Given the description of an element on the screen output the (x, y) to click on. 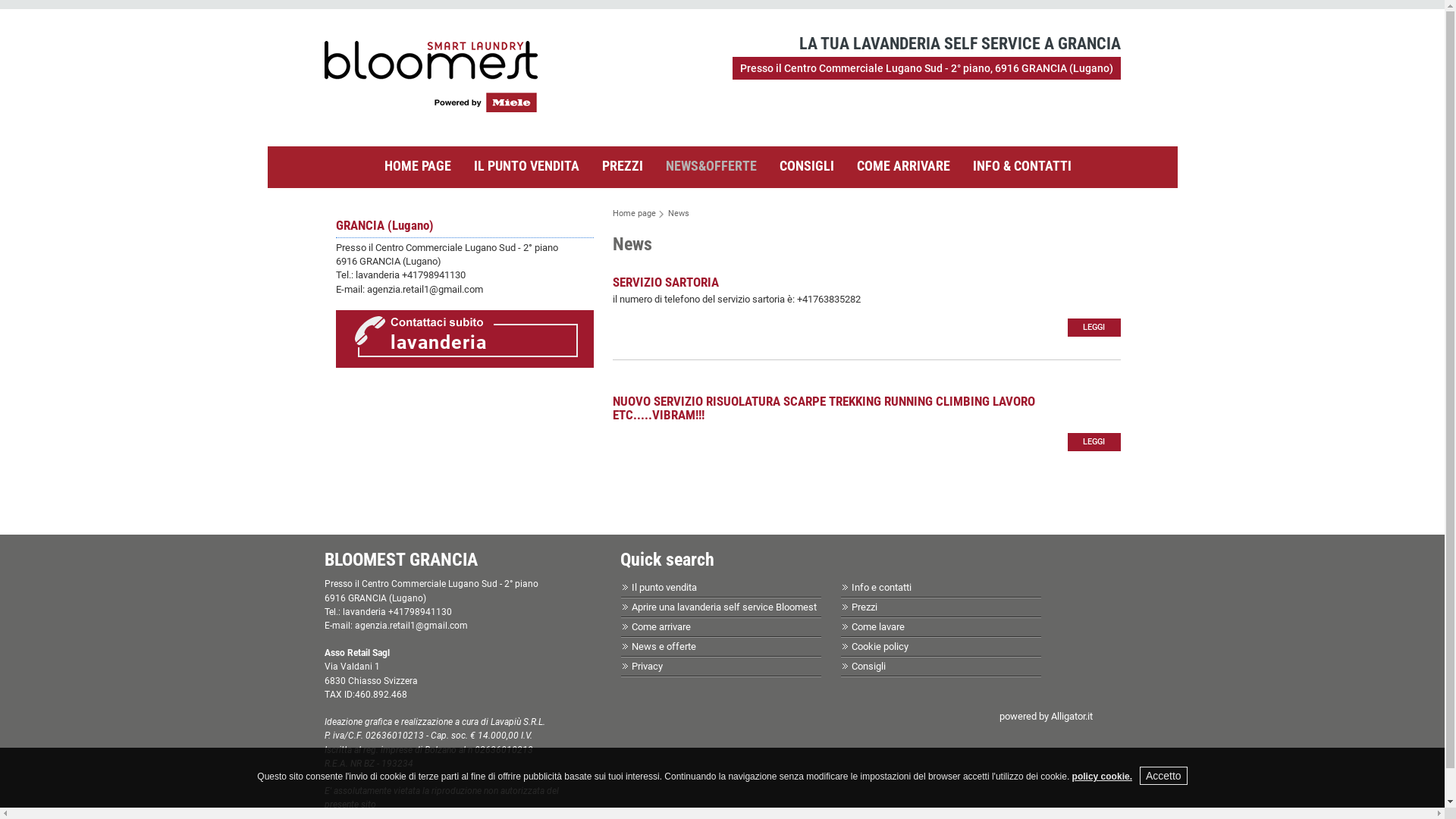
Accetto Element type: text (1163, 775)
SERVIZIO SARTORIA Element type: text (665, 281)
News e offerte Element type: text (662, 646)
CONSIGLI Element type: text (806, 165)
lavanderia +41798941130 Element type: text (457, 371)
Info e contatti Element type: text (880, 587)
Privacy Element type: text (646, 665)
powered by Alligator.it Element type: text (1045, 715)
LEGGI Element type: text (1093, 441)
Home page Element type: text (633, 213)
Come arrivare Element type: text (660, 626)
Prezzi Element type: text (863, 606)
PREZZI Element type: text (622, 165)
IL PUNTO VENDITA Element type: text (525, 165)
LEGGI Element type: text (1093, 327)
Consigli Element type: text (867, 665)
policy cookie. Element type: text (1102, 776)
Aprire una lavanderia self service Bloomest Element type: text (722, 606)
LA TUA LAVANDERIA SELF SERVICE A GRANCIA  Element type: hover (430, 108)
INFO & CONTATTI Element type: text (1021, 165)
E-mail: agenzia.retail1@gmail.com Element type: text (408, 288)
Il punto vendita Element type: text (663, 587)
News Element type: text (677, 213)
Cookie policy Element type: text (878, 646)
COME ARRIVARE Element type: text (903, 165)
NEWS&OFFERTE Element type: text (710, 165)
Tel.: lavanderia +41798941130 Element type: text (387, 611)
E-mail: agenzia.retail1@gmail.com Element type: text (395, 625)
Come lavare Element type: text (876, 626)
HOME PAGE Element type: text (416, 165)
Tel.: lavanderia +41798941130 Element type: text (399, 274)
